Given the description of an element on the screen output the (x, y) to click on. 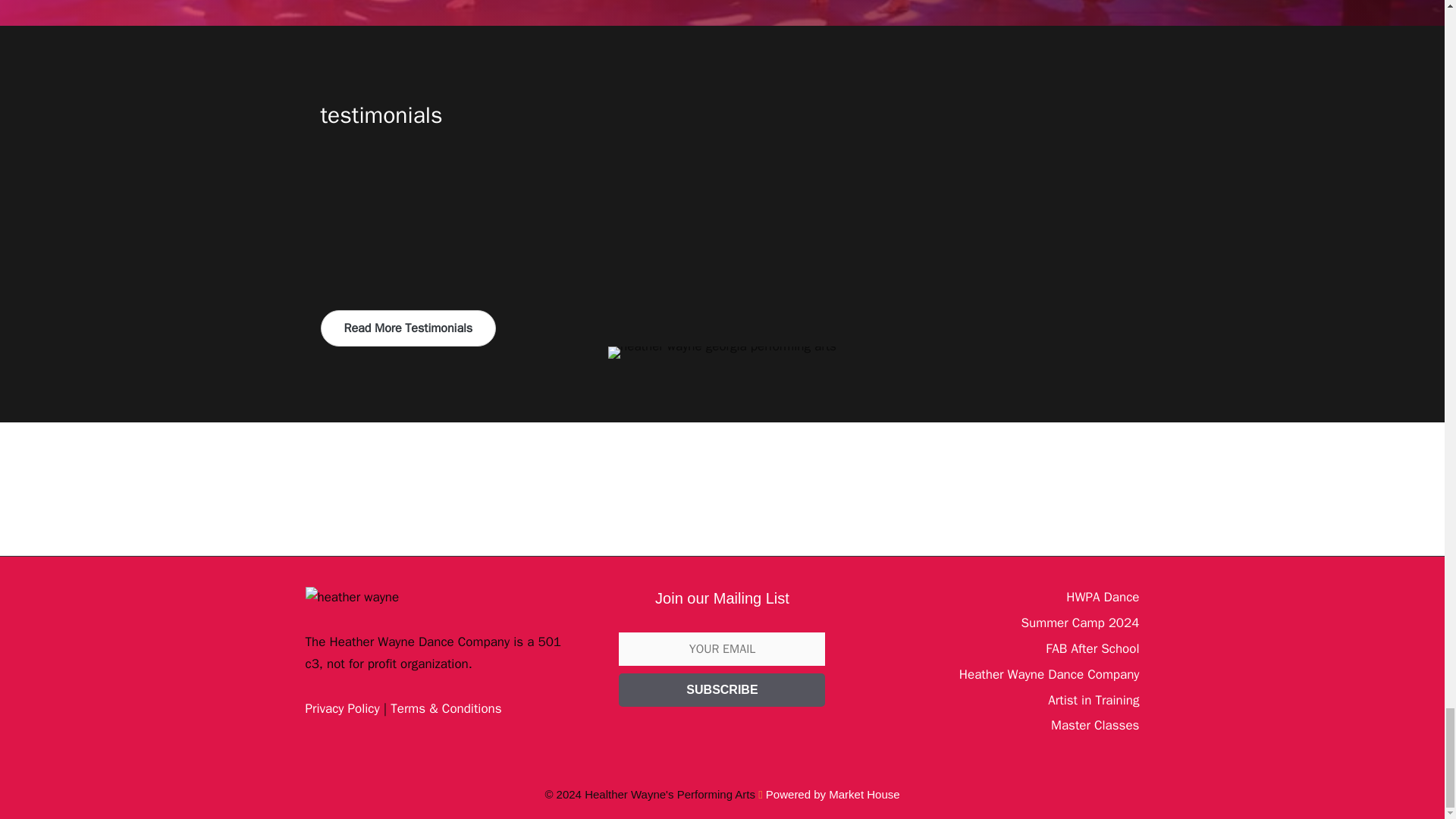
HWPA heather wayne performing arts (721, 352)
Subscribe (721, 689)
